Given the description of an element on the screen output the (x, y) to click on. 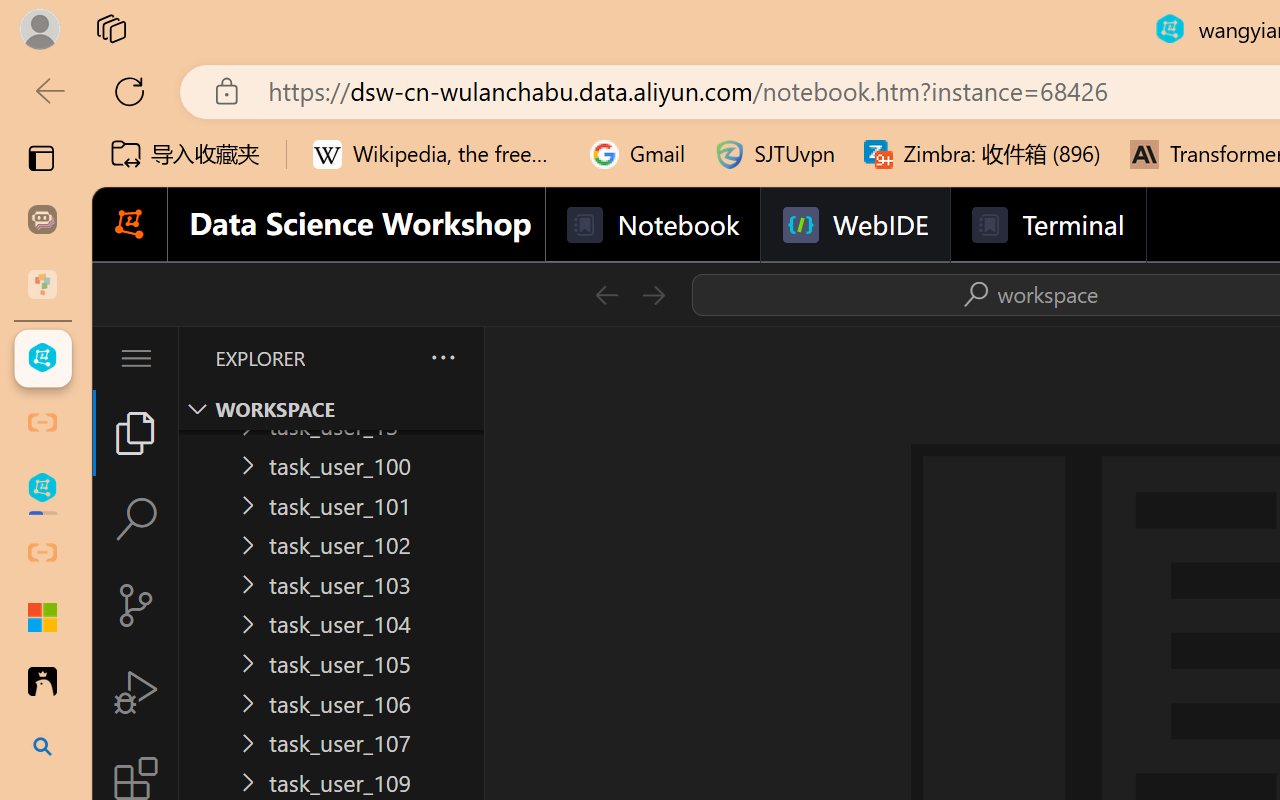
Gmail (637, 154)
Run and Debug (Ctrl+Shift+D) (135, 692)
Application Menu (135, 358)
Explorer actions (390, 358)
Go Forward (Alt+RightArrow) (652, 294)
Source Control (Ctrl+Shift+G) (135, 604)
Adjust indents and spacing - Microsoft Support (42, 617)
Terminal (1046, 225)
Explorer Section: workspace (331, 409)
